Given the description of an element on the screen output the (x, y) to click on. 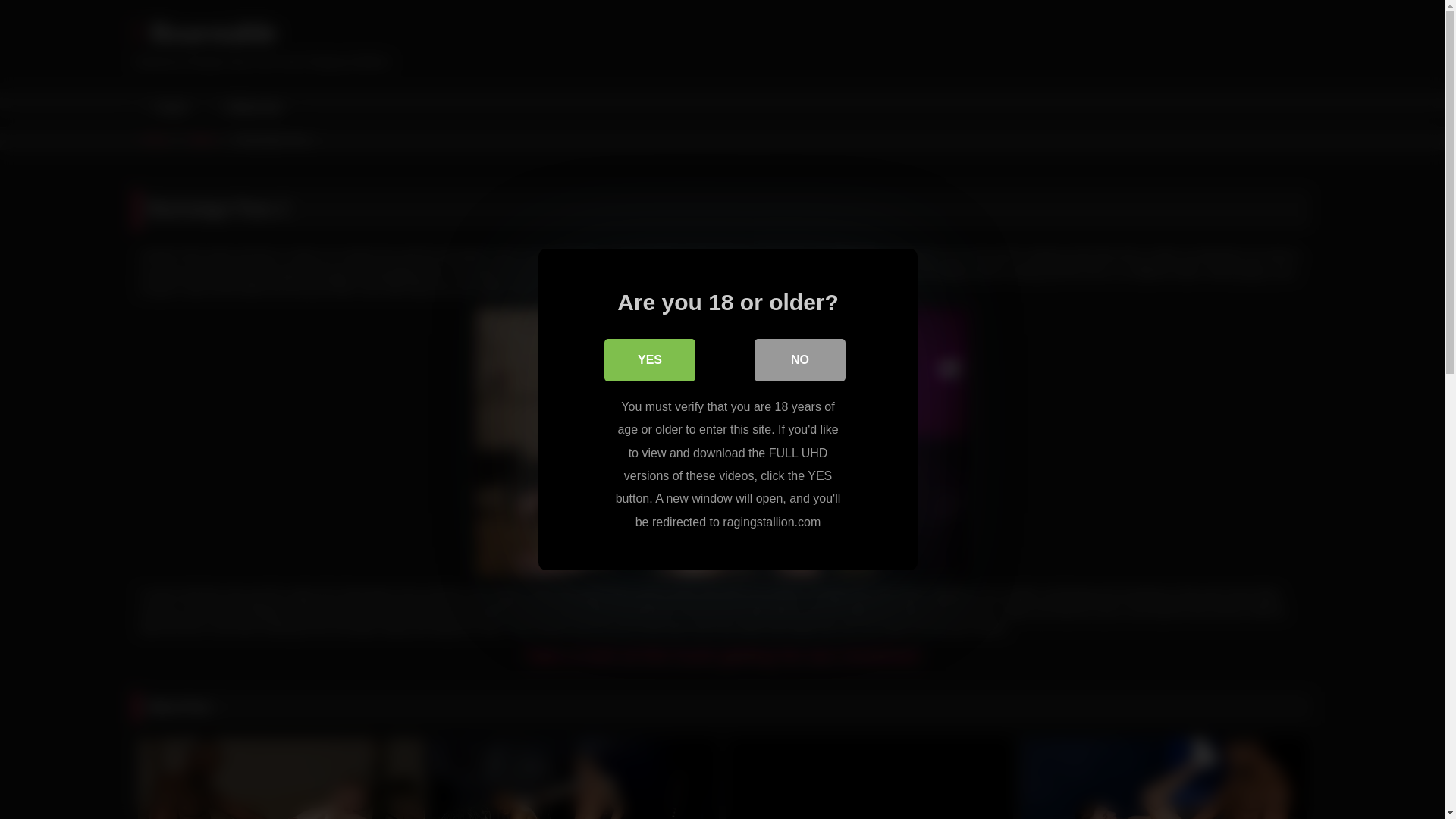
Videos (201, 138)
Rearstable (204, 32)
Official Site (250, 108)
Angelo And David (575, 778)
YES (649, 360)
Temptation (1163, 778)
Temptation (1163, 778)
NO (799, 360)
Home (169, 108)
Take a look at this hunk getting his ass smashed! (722, 655)
